Given the description of an element on the screen output the (x, y) to click on. 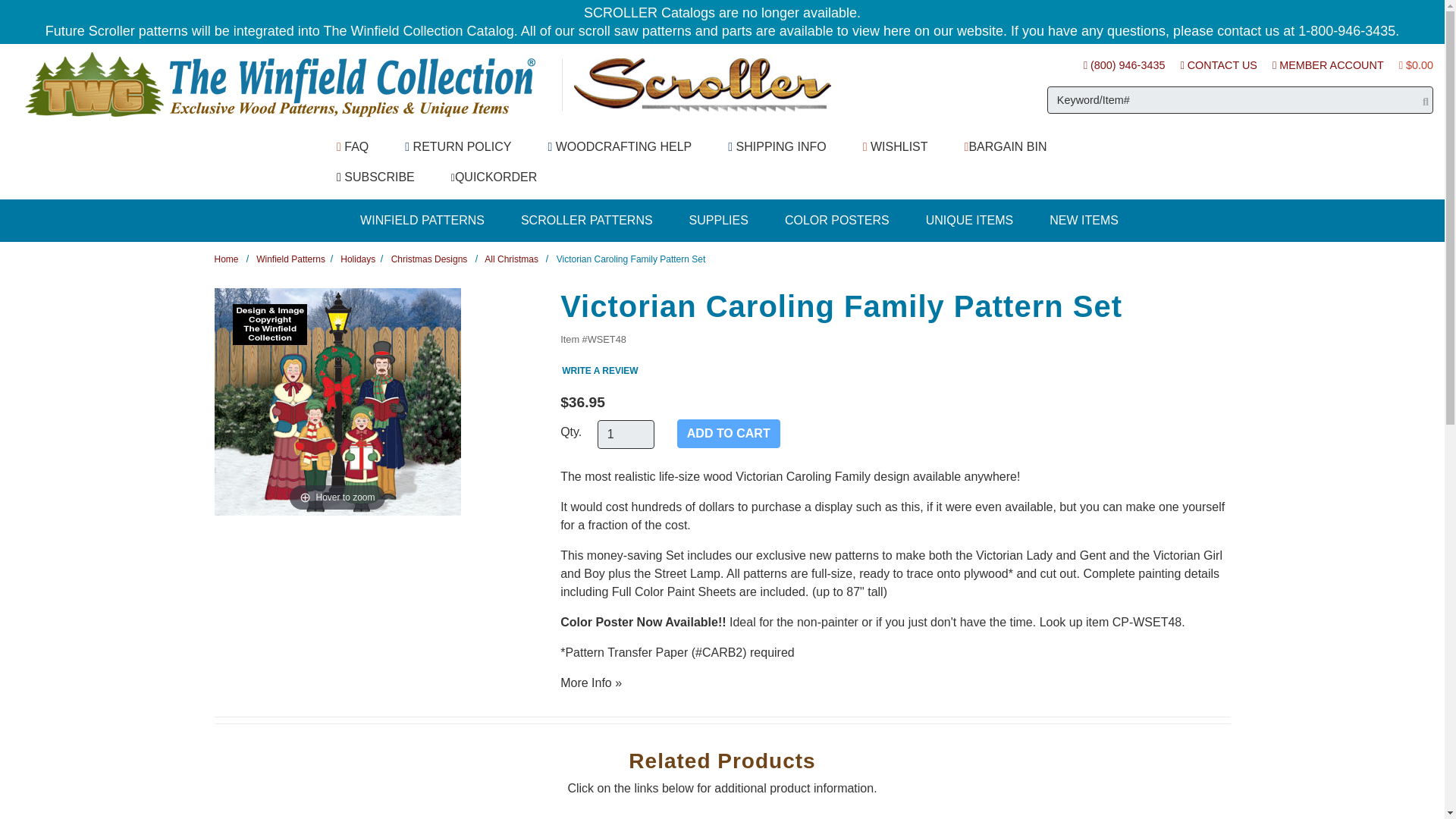
1 (624, 434)
Add to Cart (728, 433)
